Given the description of an element on the screen output the (x, y) to click on. 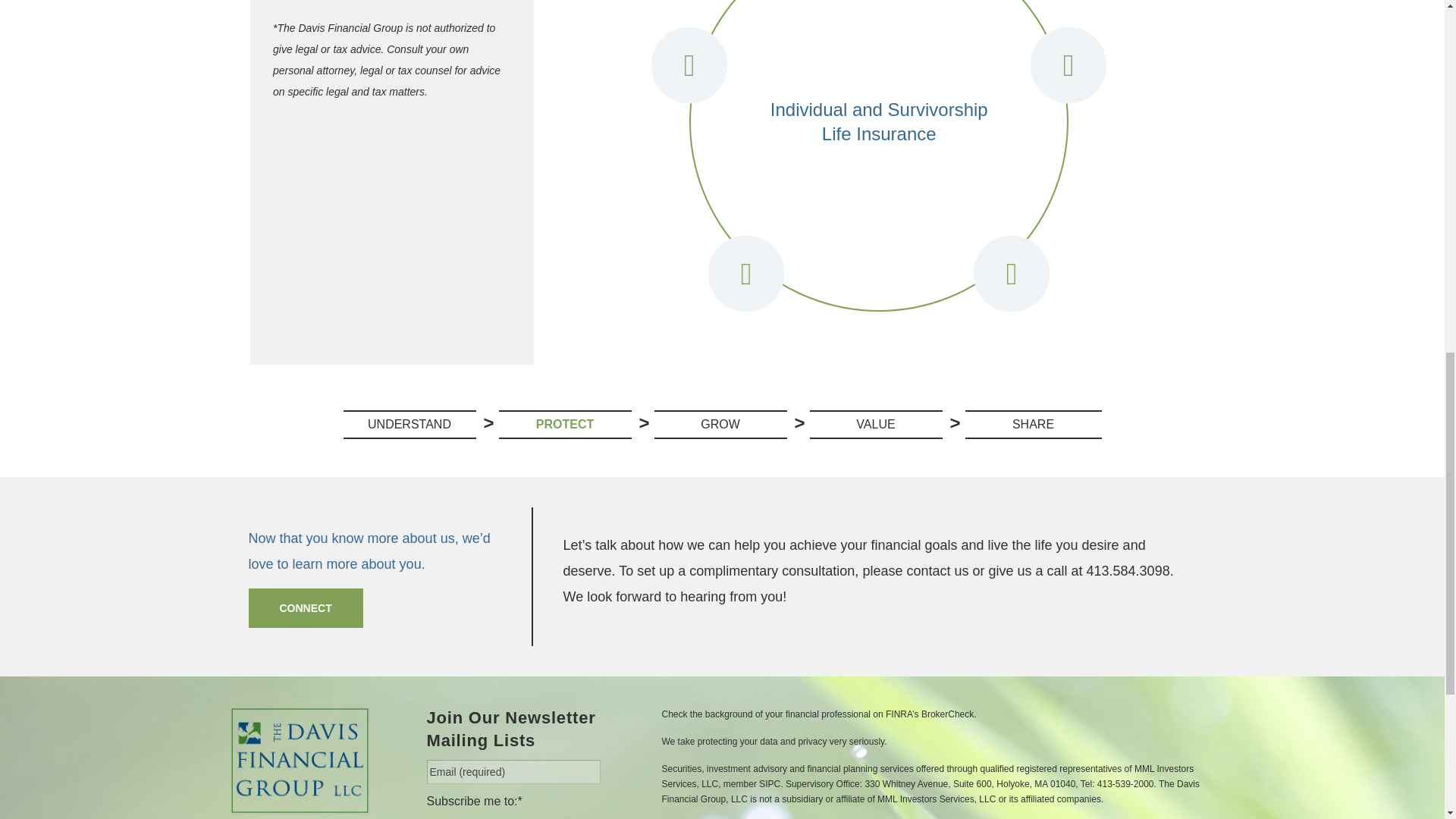
CONNECT (305, 608)
contact us (936, 570)
413.584.3098 (1128, 570)
GROW (719, 424)
VALUE (875, 424)
UNDERSTAND (409, 424)
PROTECT (565, 424)
SHARE (1031, 424)
